Given the description of an element on the screen output the (x, y) to click on. 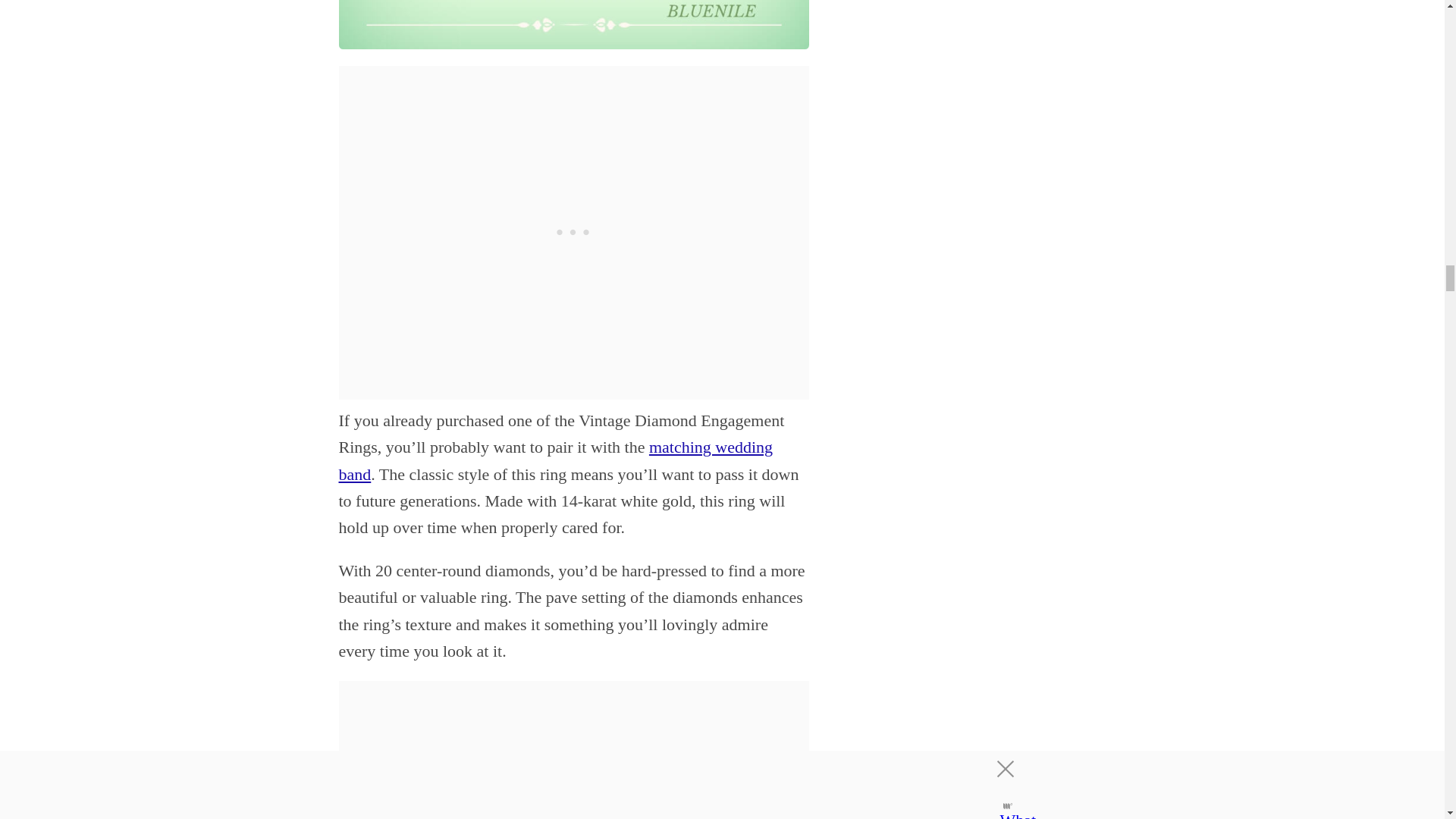
matching wedding band (555, 460)
